Given the description of an element on the screen output the (x, y) to click on. 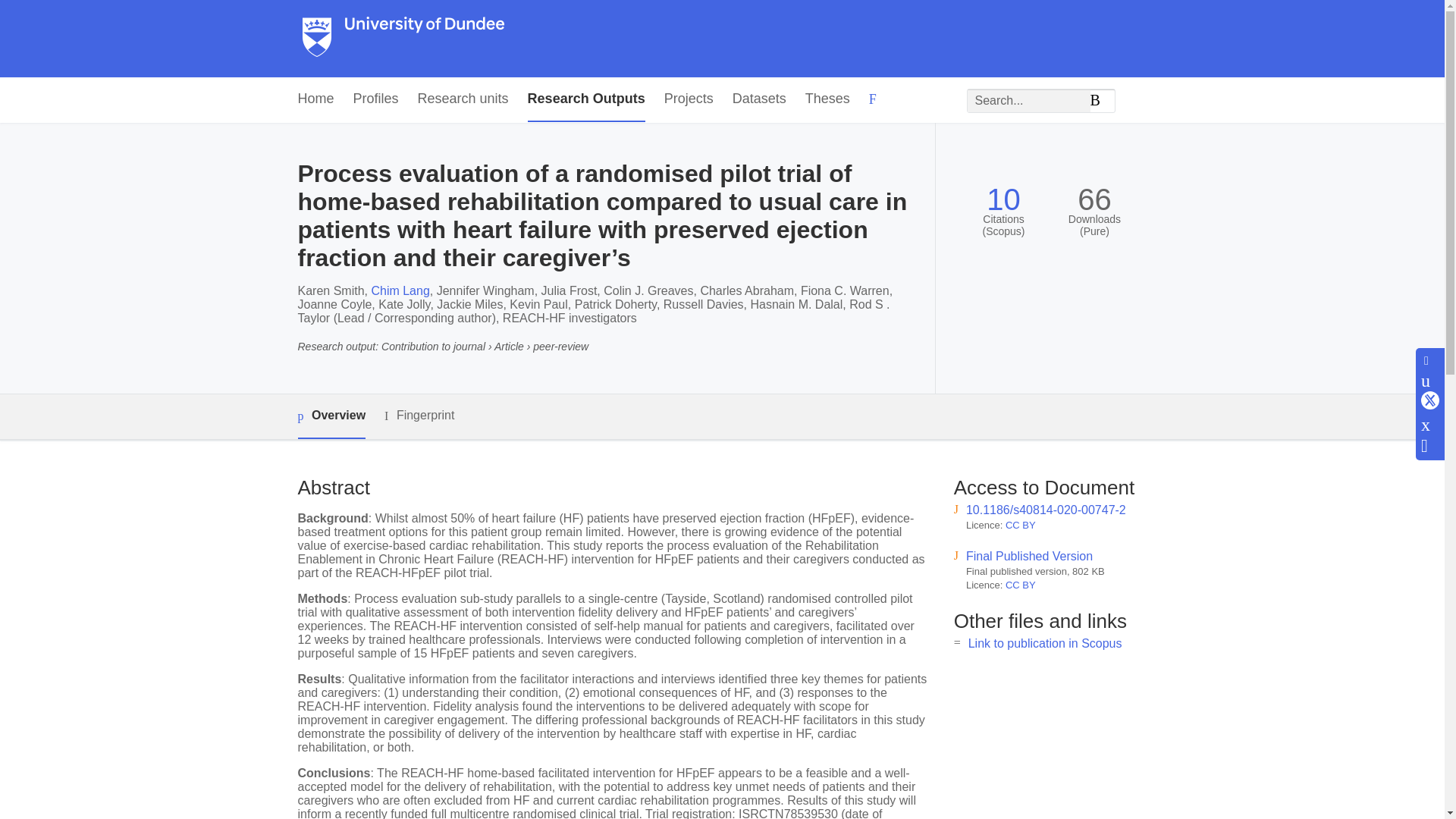
10 (1003, 199)
Theses (827, 99)
CC BY (1020, 584)
Overview (331, 415)
Datasets (759, 99)
Discovery - the University of Dundee Research Portal Home (404, 38)
Research units (462, 99)
Research Outputs (586, 99)
CC BY (1020, 524)
